Given the description of an element on the screen output the (x, y) to click on. 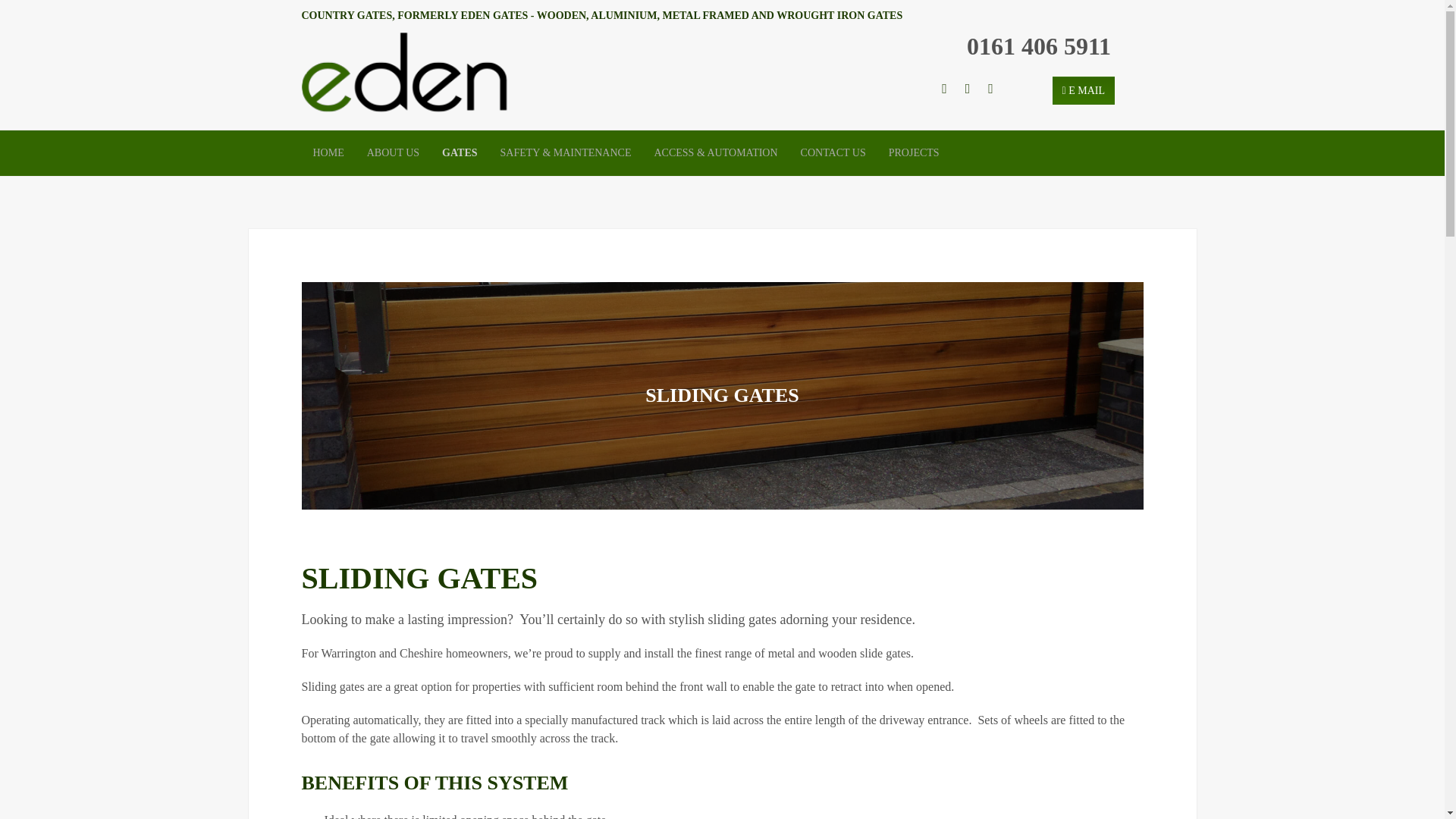
PROJECTS (913, 153)
GATES (458, 153)
CONTACT US (833, 153)
E MAIL (1083, 90)
ABOUT US (392, 153)
HOME (328, 153)
